Given the description of an element on the screen output the (x, y) to click on. 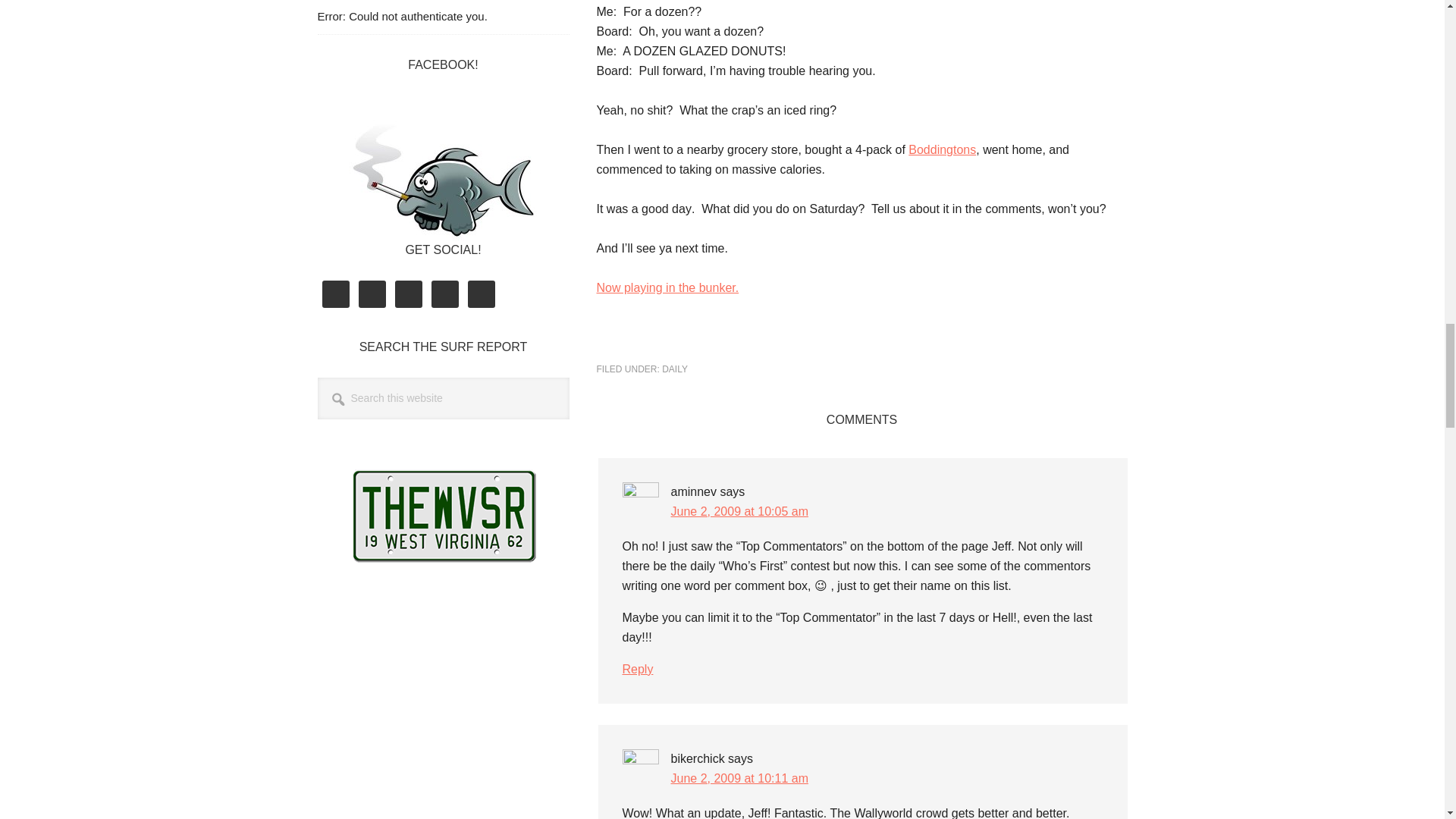
Share on Pinterest (731, 339)
Share on Linkedin (692, 339)
June 2, 2009 at 10:11 am (738, 778)
Reply (636, 668)
June 2, 2009 at 10:05 am (738, 511)
Share on Twitter (651, 339)
Boddingtons (941, 149)
Now playing in the bunker. (666, 287)
Share on Facebook (612, 339)
DAILY (674, 368)
